Given the description of an element on the screen output the (x, y) to click on. 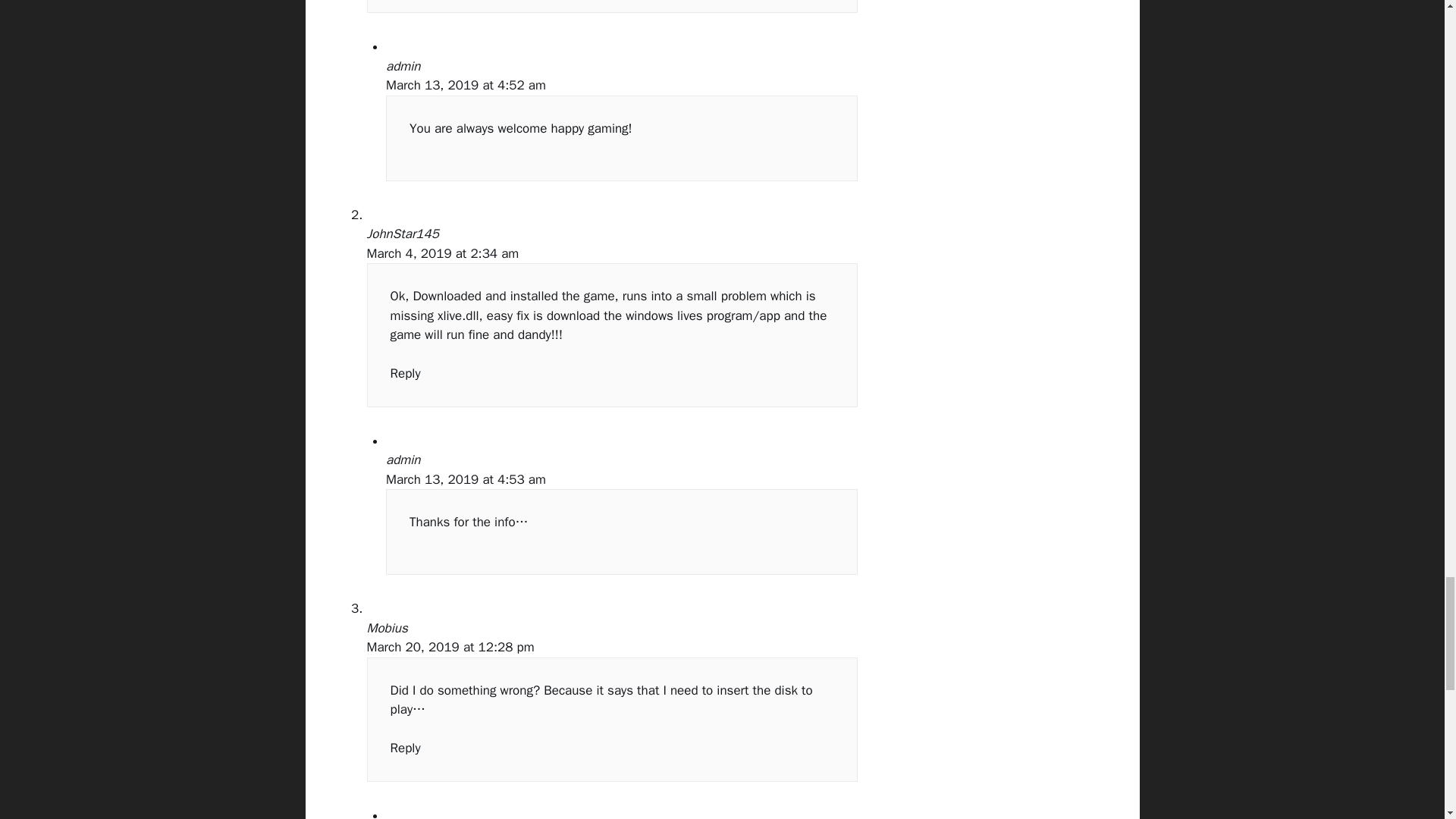
March 4, 2019 at 2:34 am (442, 253)
March 13, 2019 at 4:52 am (465, 84)
March 13, 2019 at 4:53 am (465, 479)
Reply (405, 373)
March 20, 2019 at 12:28 pm (450, 647)
Reply (405, 747)
